Given the description of an element on the screen output the (x, y) to click on. 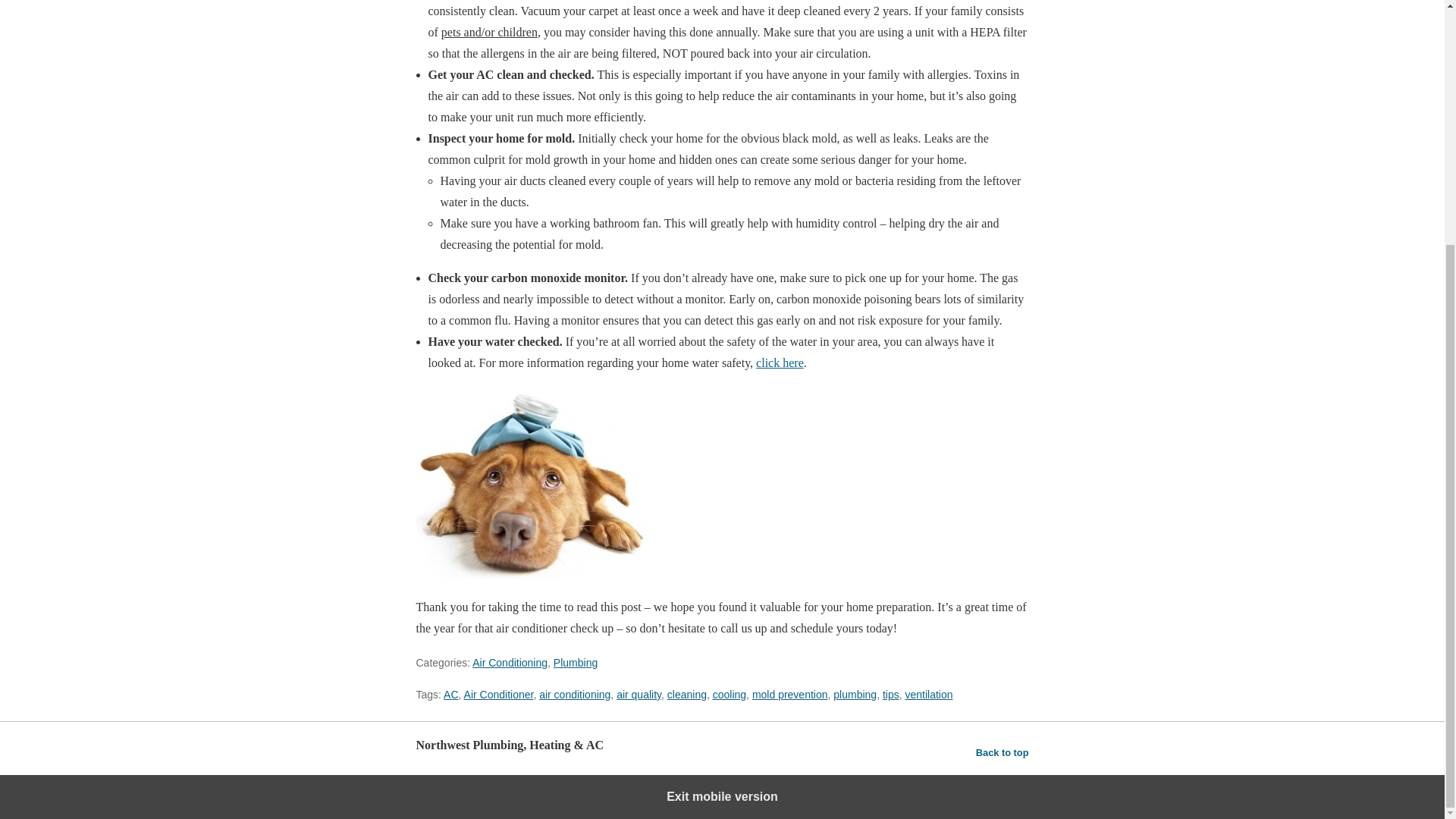
Back to top (1002, 752)
ventilation (928, 694)
tips (890, 694)
plumbing (854, 694)
air quality (638, 694)
cooling (729, 694)
Plumbing (574, 662)
cleaning (686, 694)
air conditioning (574, 694)
AC (451, 694)
